Given the description of an element on the screen output the (x, y) to click on. 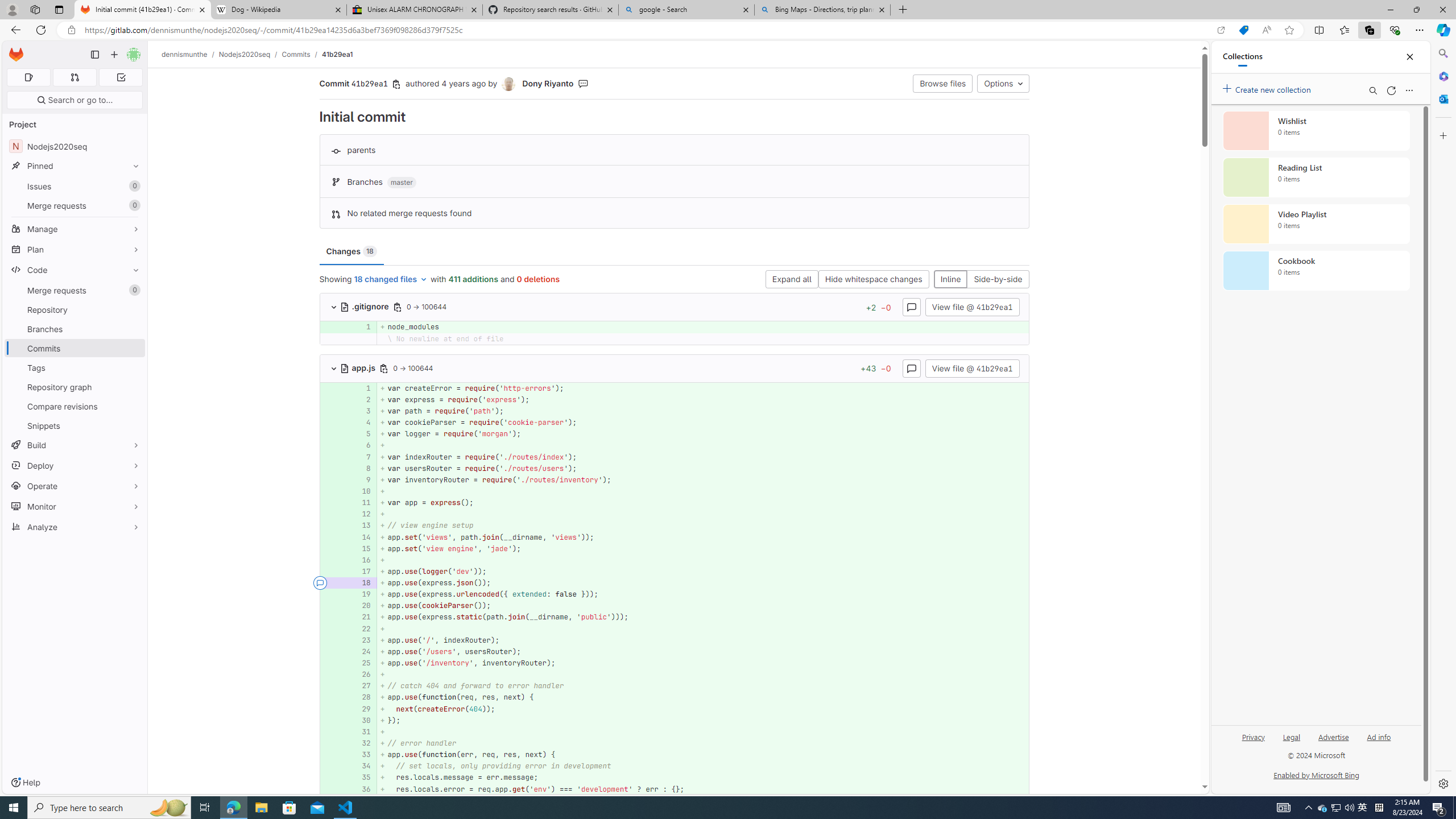
22 (360, 628)
31 (360, 731)
Commits (74, 348)
AutomationID: 4a68969ef8e858229267b842dedf42ab5dde4d50_0_22 (674, 628)
25 (362, 663)
1 (362, 387)
35 (360, 777)
9 (362, 479)
10 (362, 490)
5 (360, 434)
+ var path = require('path');  (703, 410)
